Given the description of an element on the screen output the (x, y) to click on. 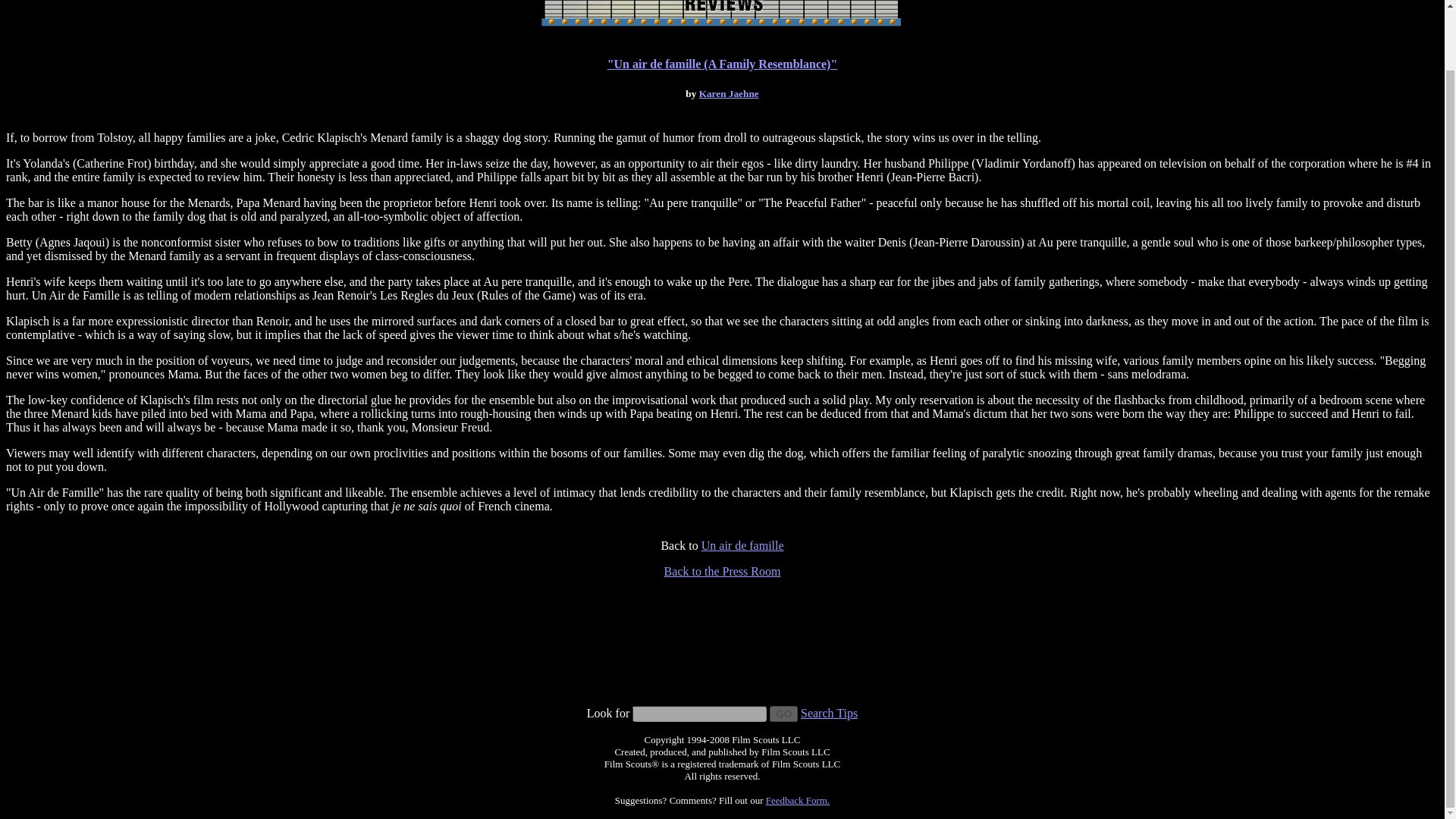
Feedback Form. (797, 799)
Karen Jaehne (728, 93)
GO (783, 713)
Search Tips (828, 712)
Back to the Press Room (721, 571)
GO (783, 713)
Un air de famille (742, 545)
Advertisement (721, 670)
